Given the description of an element on the screen output the (x, y) to click on. 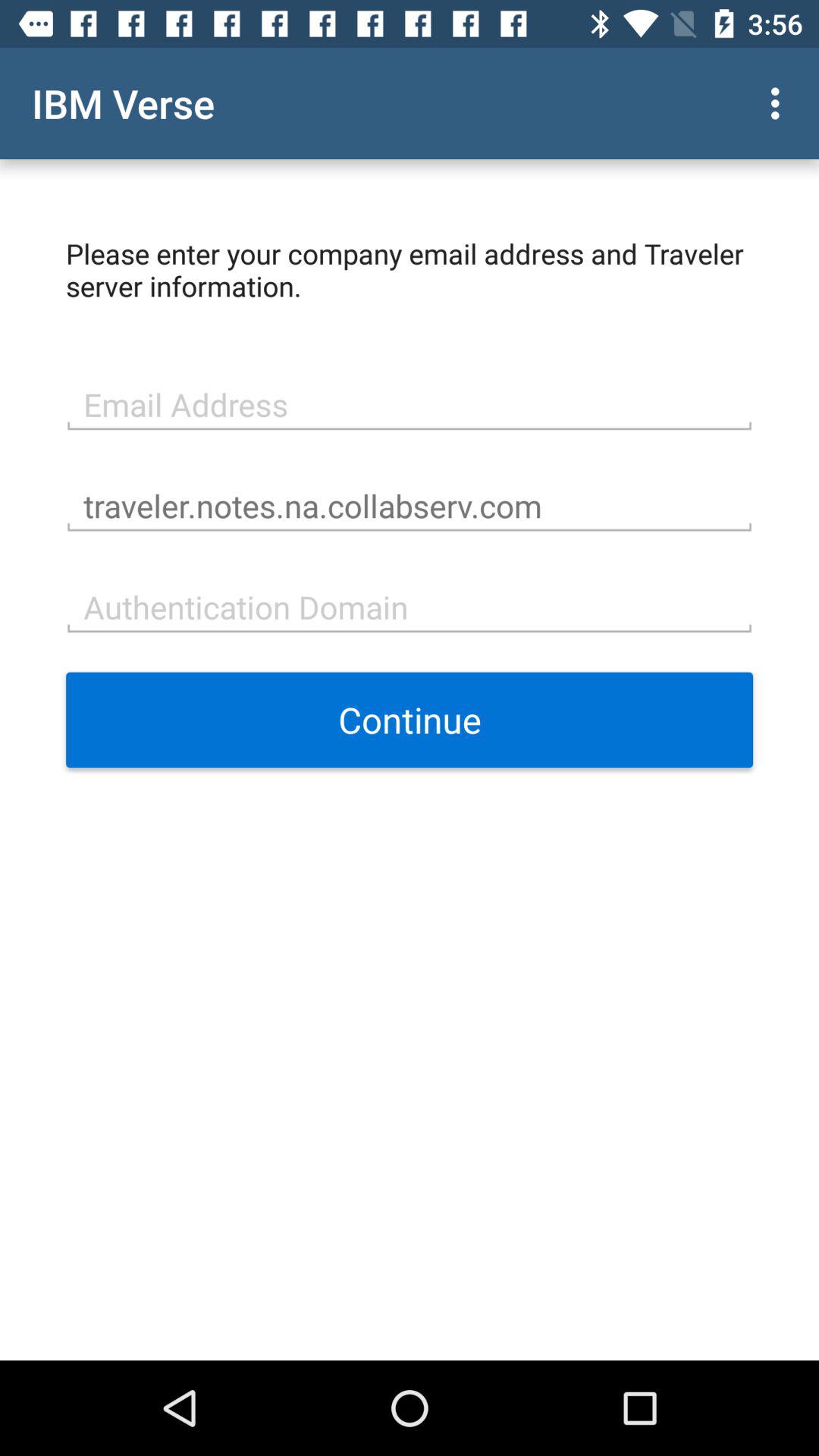
select item below the please enter your item (409, 402)
